Given the description of an element on the screen output the (x, y) to click on. 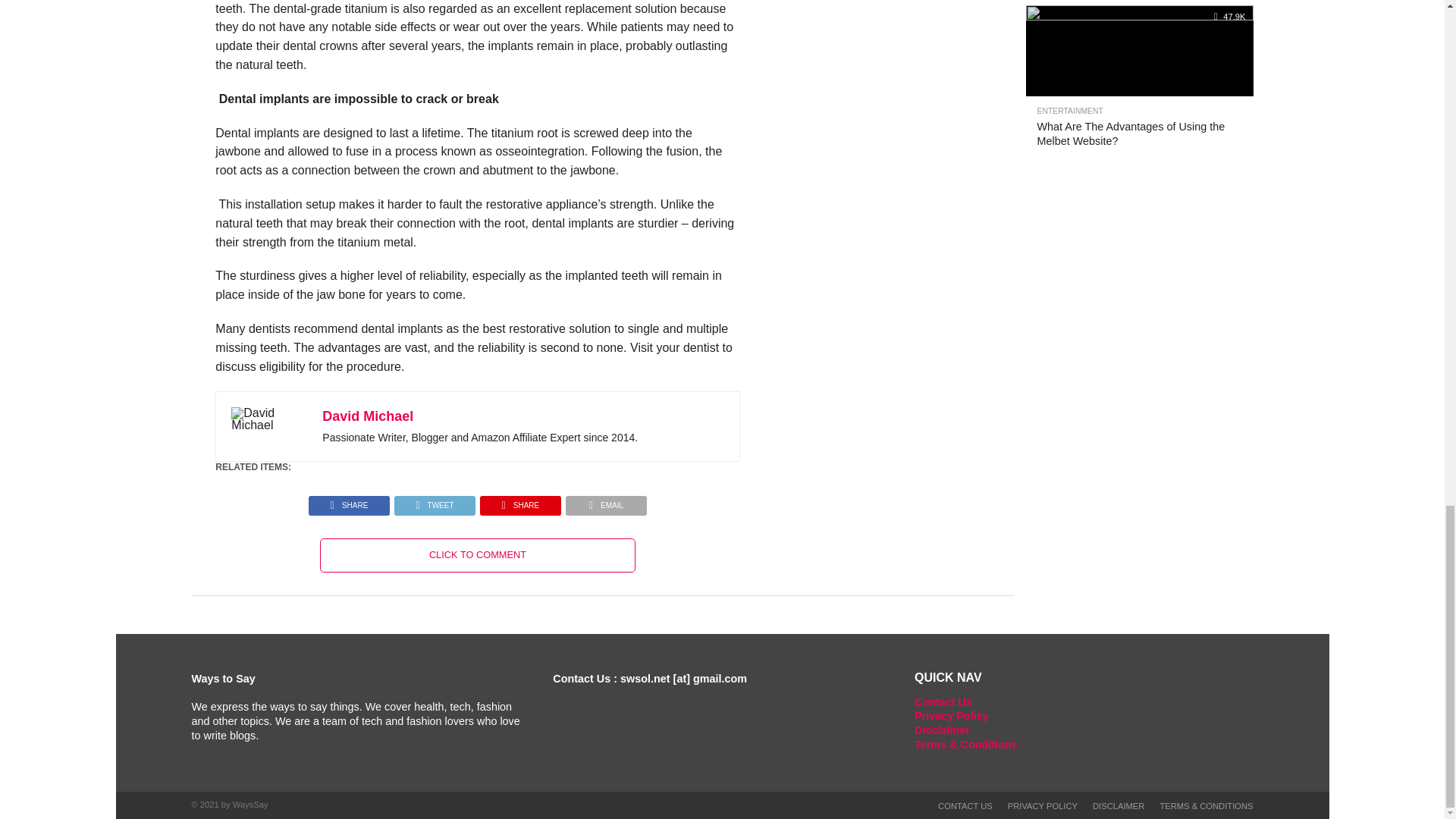
EMAIL (605, 501)
Tweet This Post (434, 501)
Share on Facebook (349, 501)
David Michael (367, 416)
Pin This Post (520, 501)
TWEET (434, 501)
SHARE (520, 501)
SHARE (349, 501)
